Given the description of an element on the screen output the (x, y) to click on. 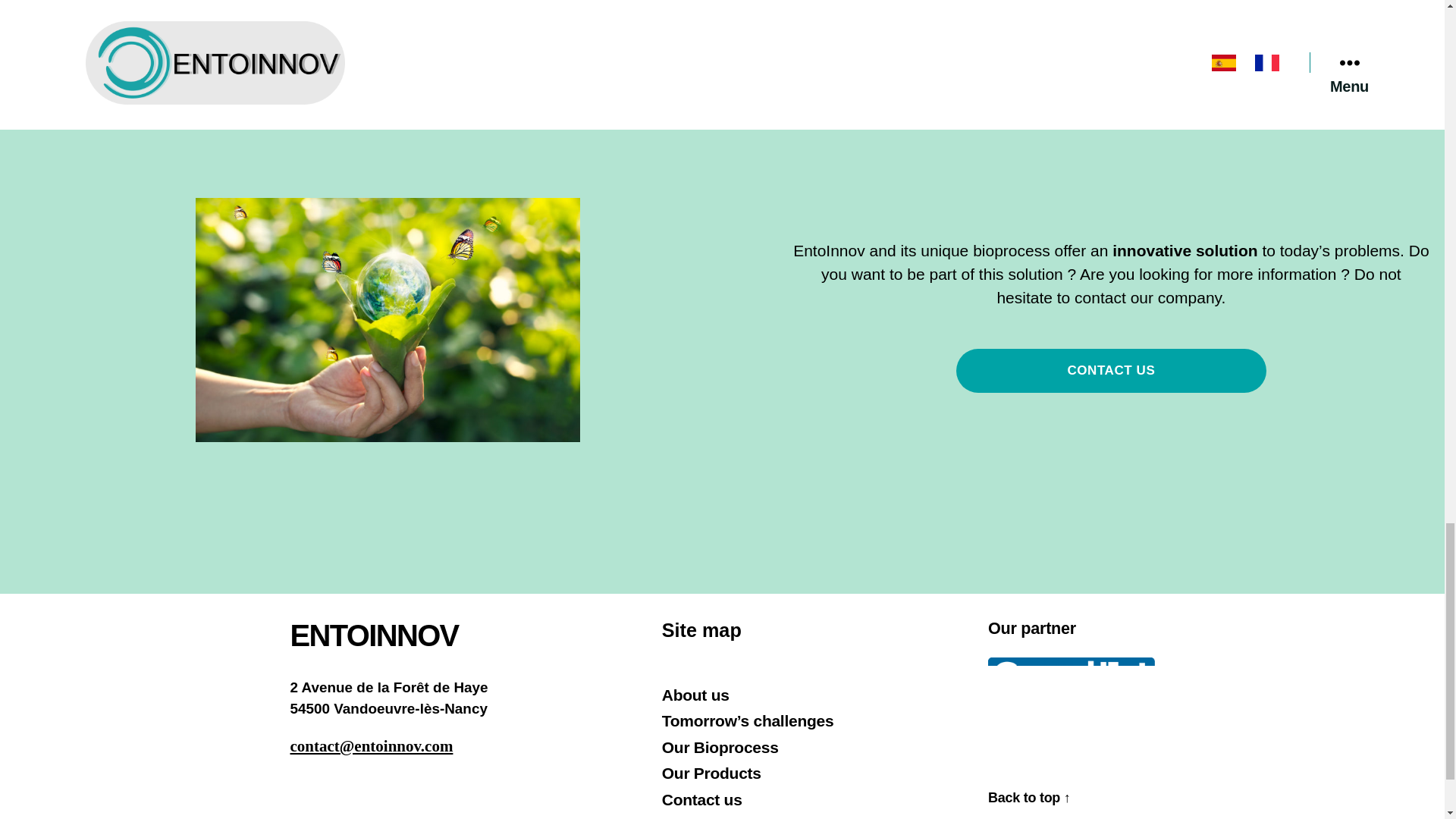
About us (695, 694)
Our Products (711, 773)
Contact us (702, 799)
Our Bioprocess (720, 746)
CONTACT US (1111, 370)
